Given the description of an element on the screen output the (x, y) to click on. 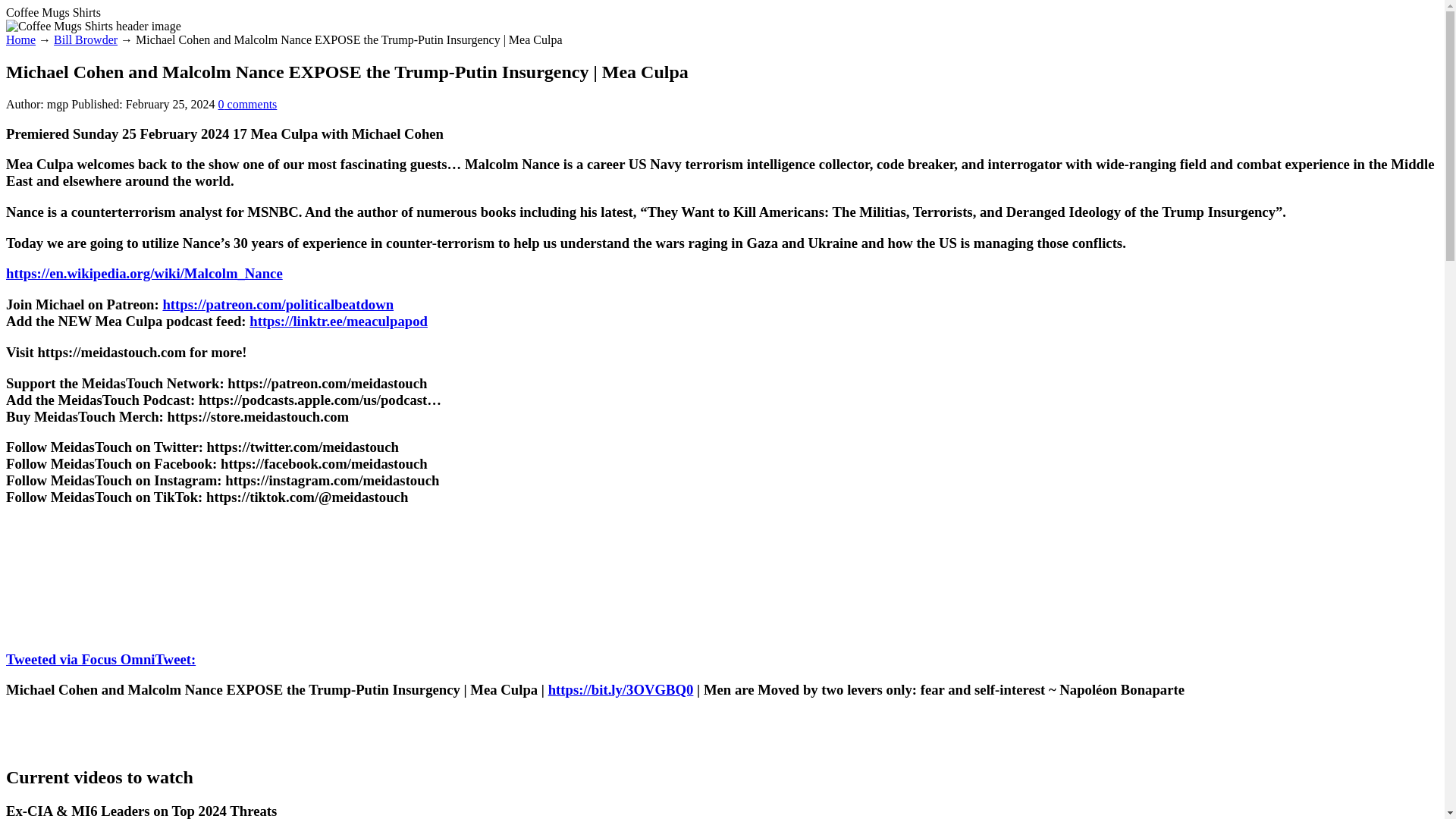
Home (19, 39)
Tweeted via Focus OmniTweet: (100, 659)
2024-02-25 (170, 103)
0 comments (248, 103)
Bill Browder (85, 39)
